Given the description of an element on the screen output the (x, y) to click on. 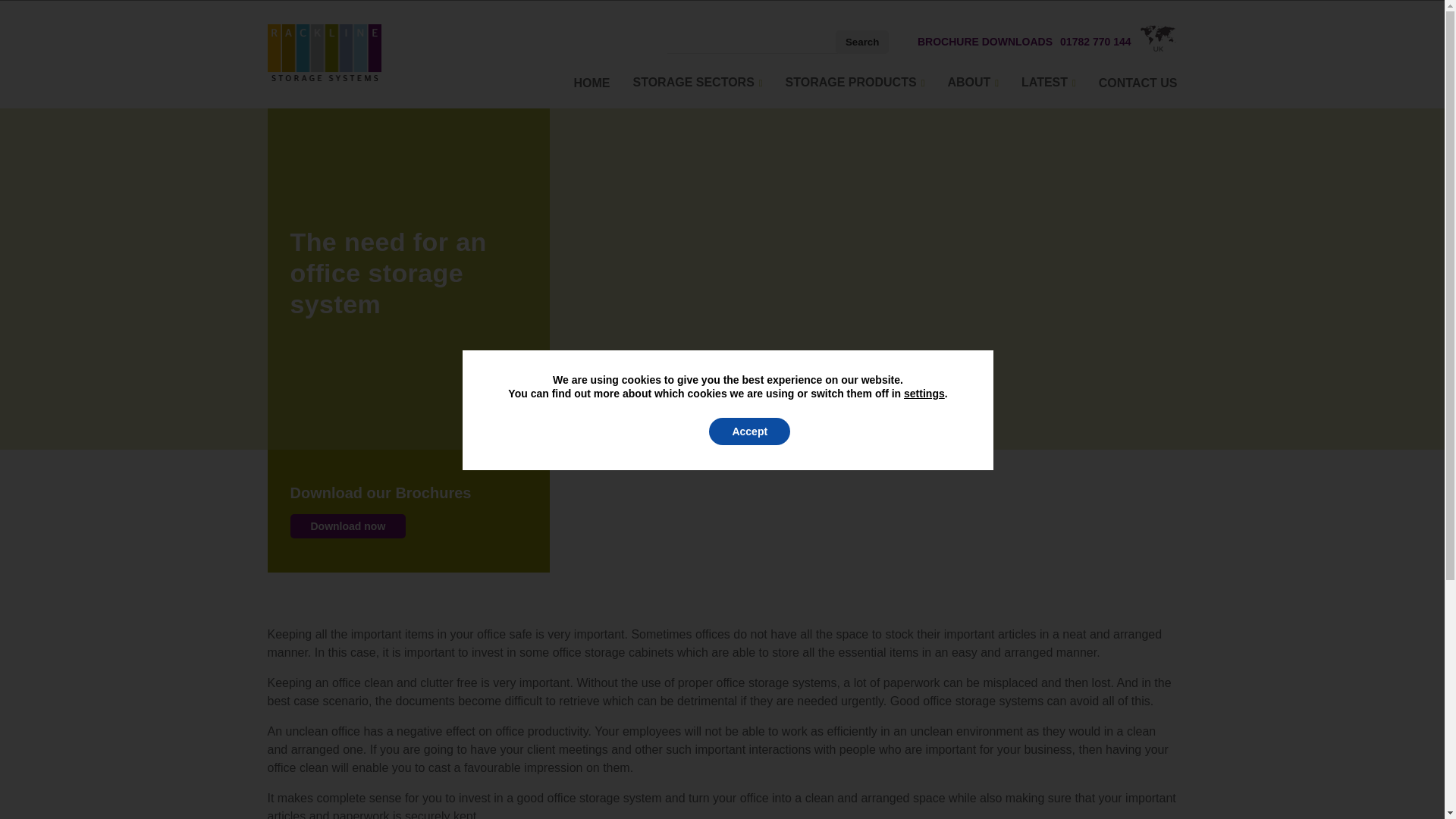
Search (861, 42)
HOME (591, 82)
ABOUT (972, 82)
Download Now (347, 526)
STORAGE SECTORS (696, 82)
STORAGE PRODUCTS (855, 82)
